Given the description of an element on the screen output the (x, y) to click on. 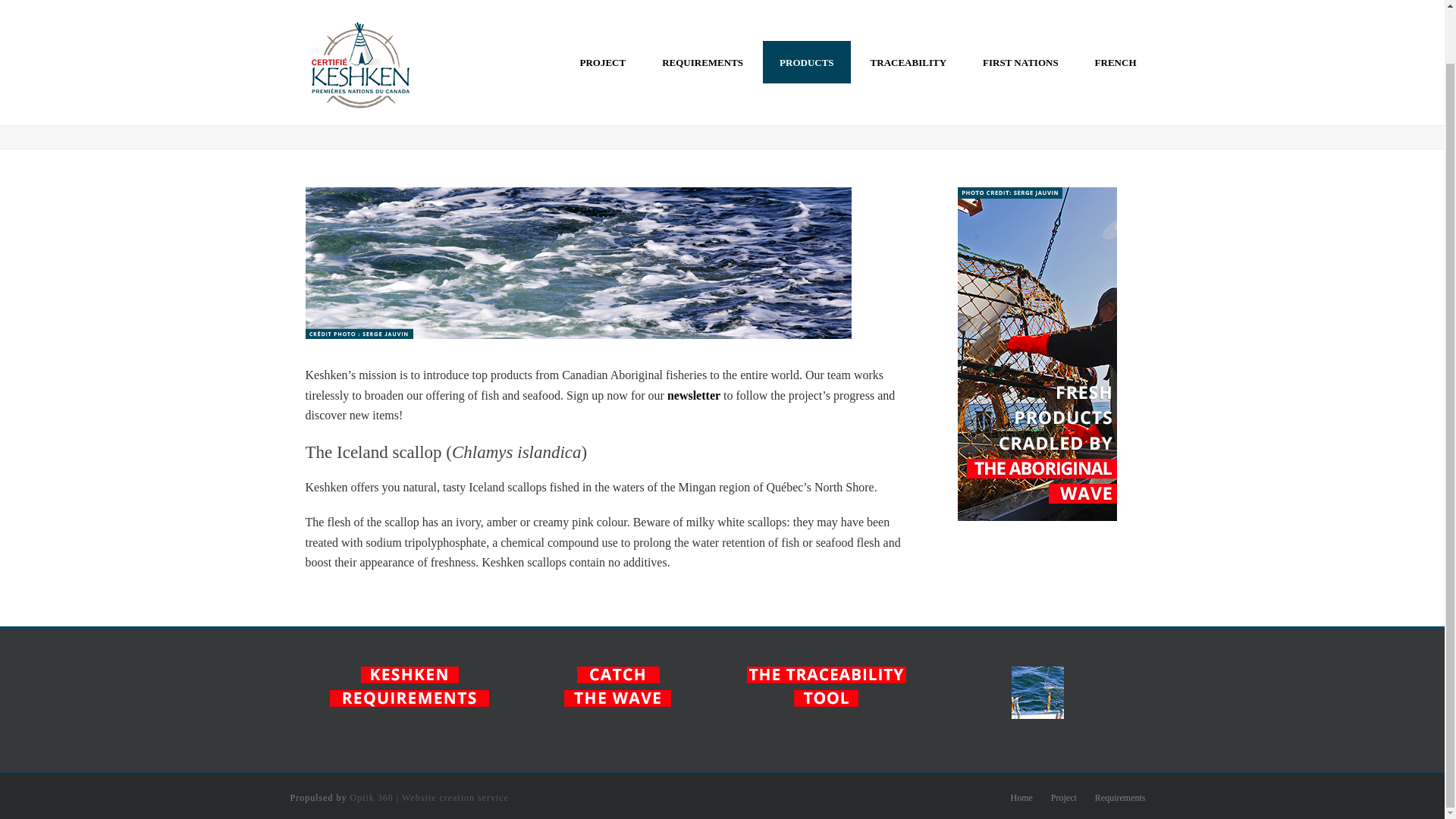
Requirements (1119, 797)
TRACEABILITY (907, 12)
PRODUCTS (806, 12)
PROJECT (602, 12)
Home (1021, 797)
FIRST NATIONS (1020, 12)
REQUIREMENTS (702, 12)
REQUIREMENTS (702, 12)
PRODUCTS (806, 12)
PROJECT (602, 12)
